Given the description of an element on the screen output the (x, y) to click on. 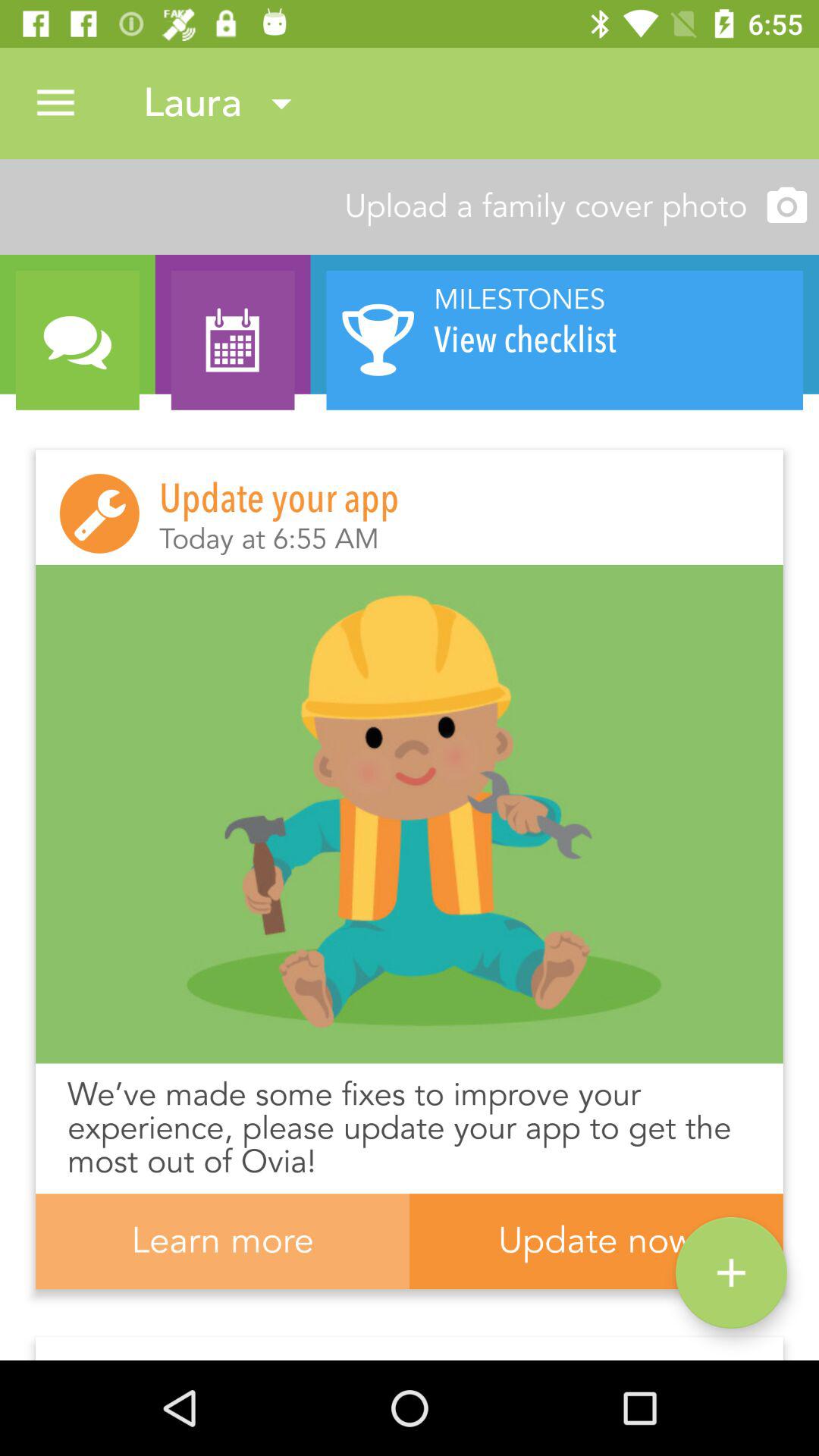
click the plus icon which is in  right bottom (731, 1273)
